Given the description of an element on the screen output the (x, y) to click on. 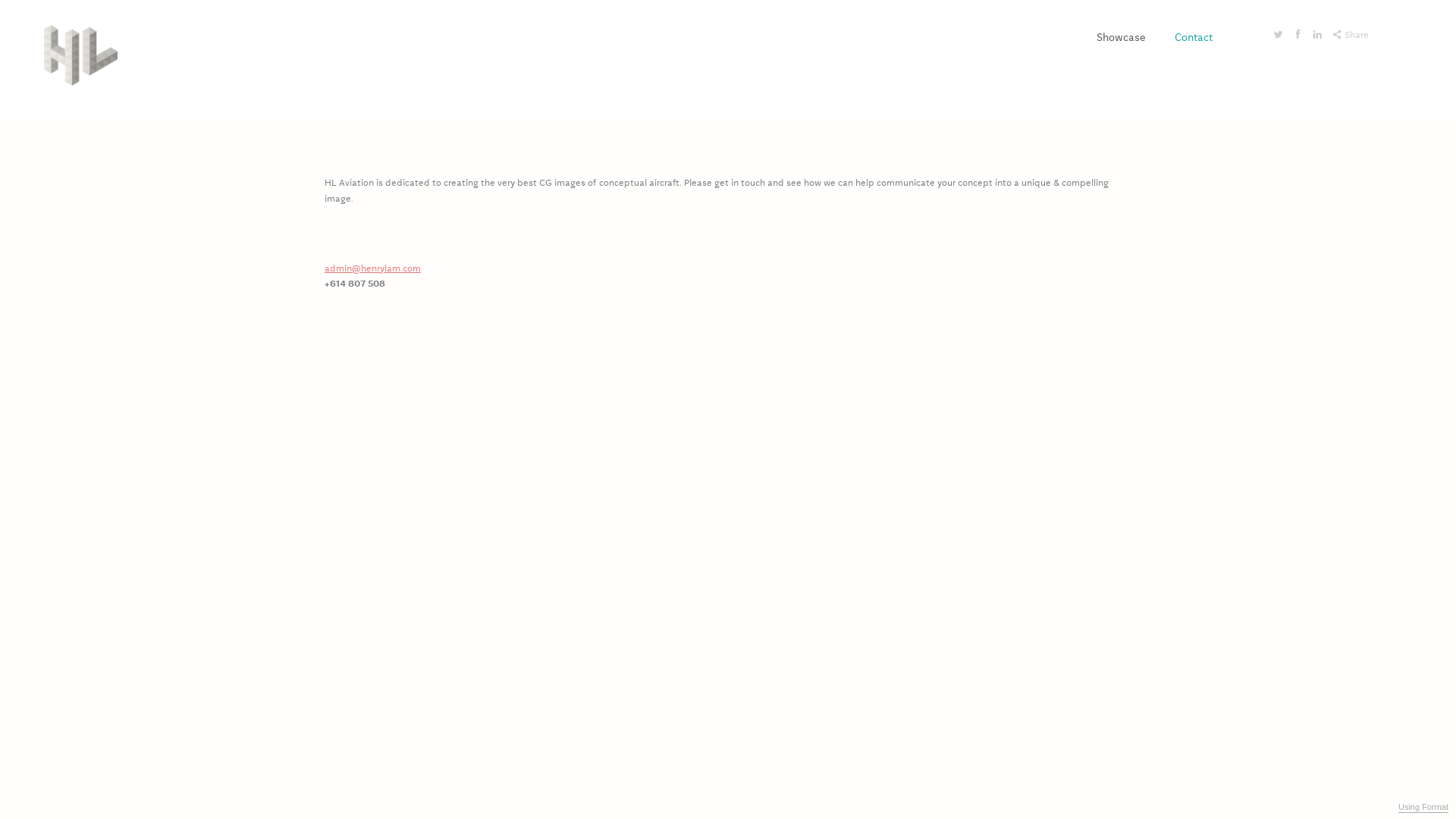
Showcase Element type: text (1121, 35)
Share Element type: text (1350, 33)
Using Format Element type: text (1423, 807)
Contact Element type: text (1193, 35)
admin@henrylam.com Element type: text (372, 267)
